Given the description of an element on the screen output the (x, y) to click on. 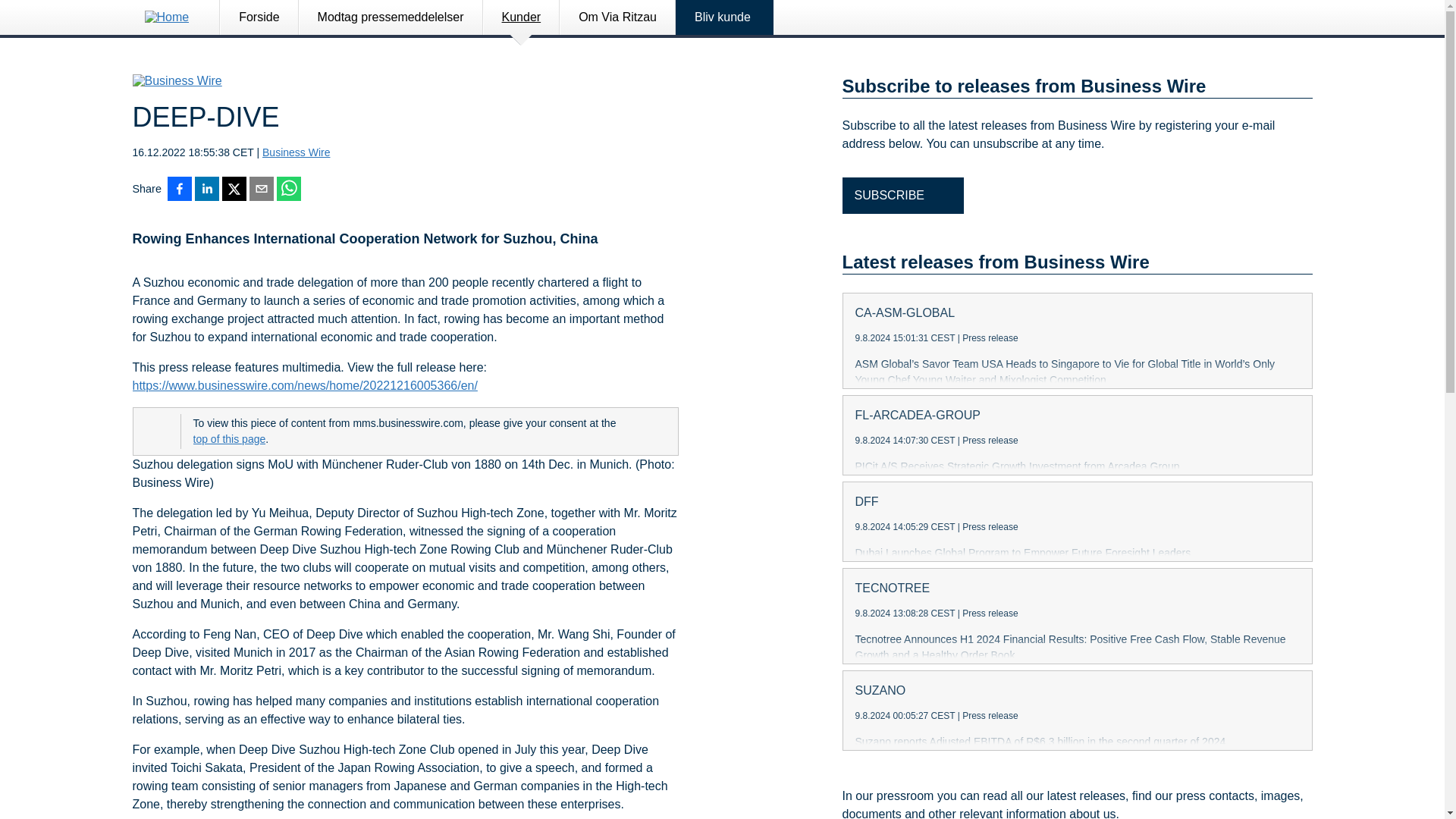
Kunder (521, 17)
Business Wire (296, 152)
Forside (259, 17)
Bliv kunde (725, 17)
Om Via Ritzau (617, 17)
top of this page (228, 439)
SUBSCRIBE (901, 195)
Modtag pressemeddelelser (390, 17)
